Given the description of an element on the screen output the (x, y) to click on. 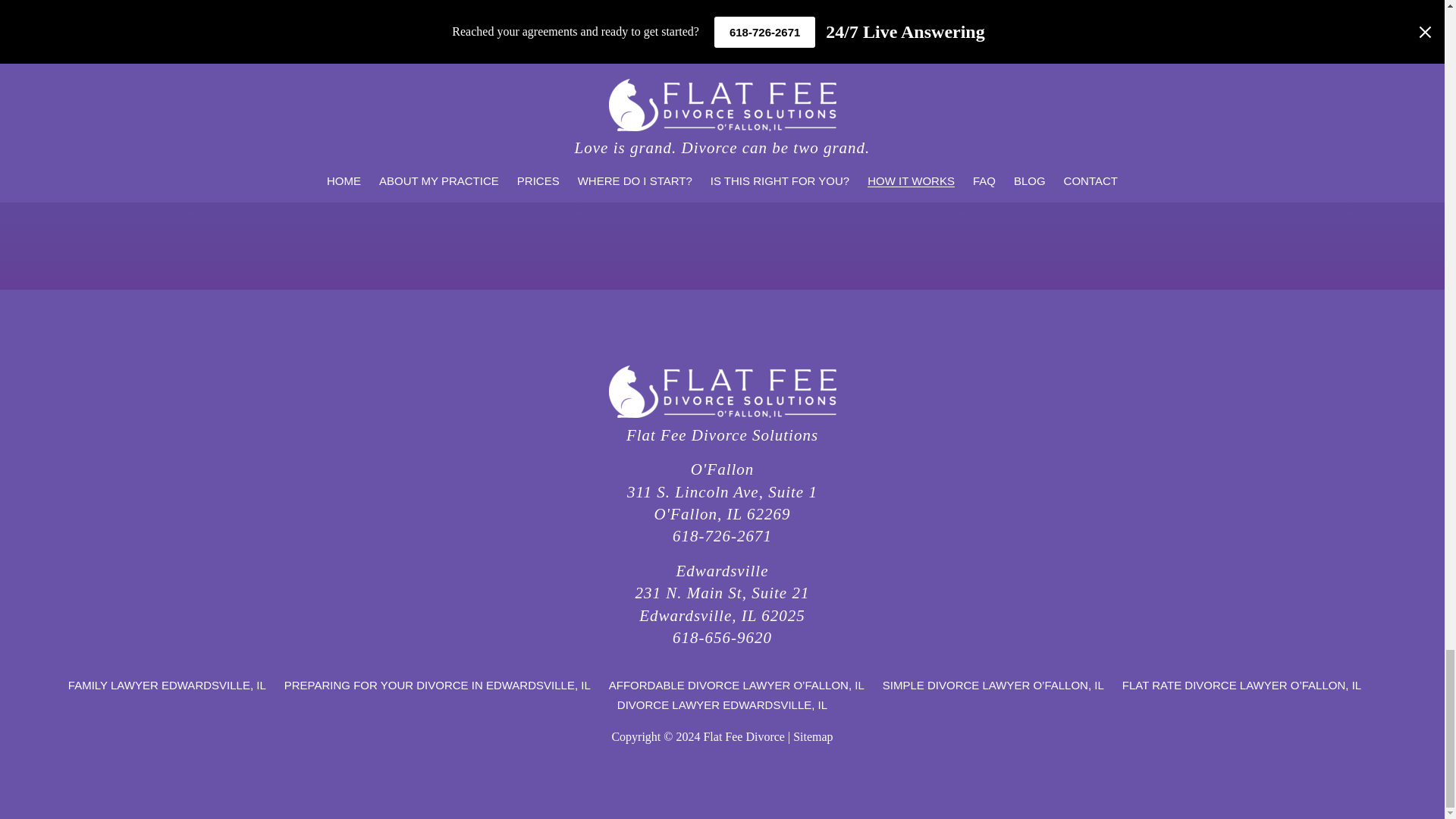
Submit (910, 179)
618-726-2671 (721, 491)
Flat Fee Divorce Solutions (721, 536)
